Given the description of an element on the screen output the (x, y) to click on. 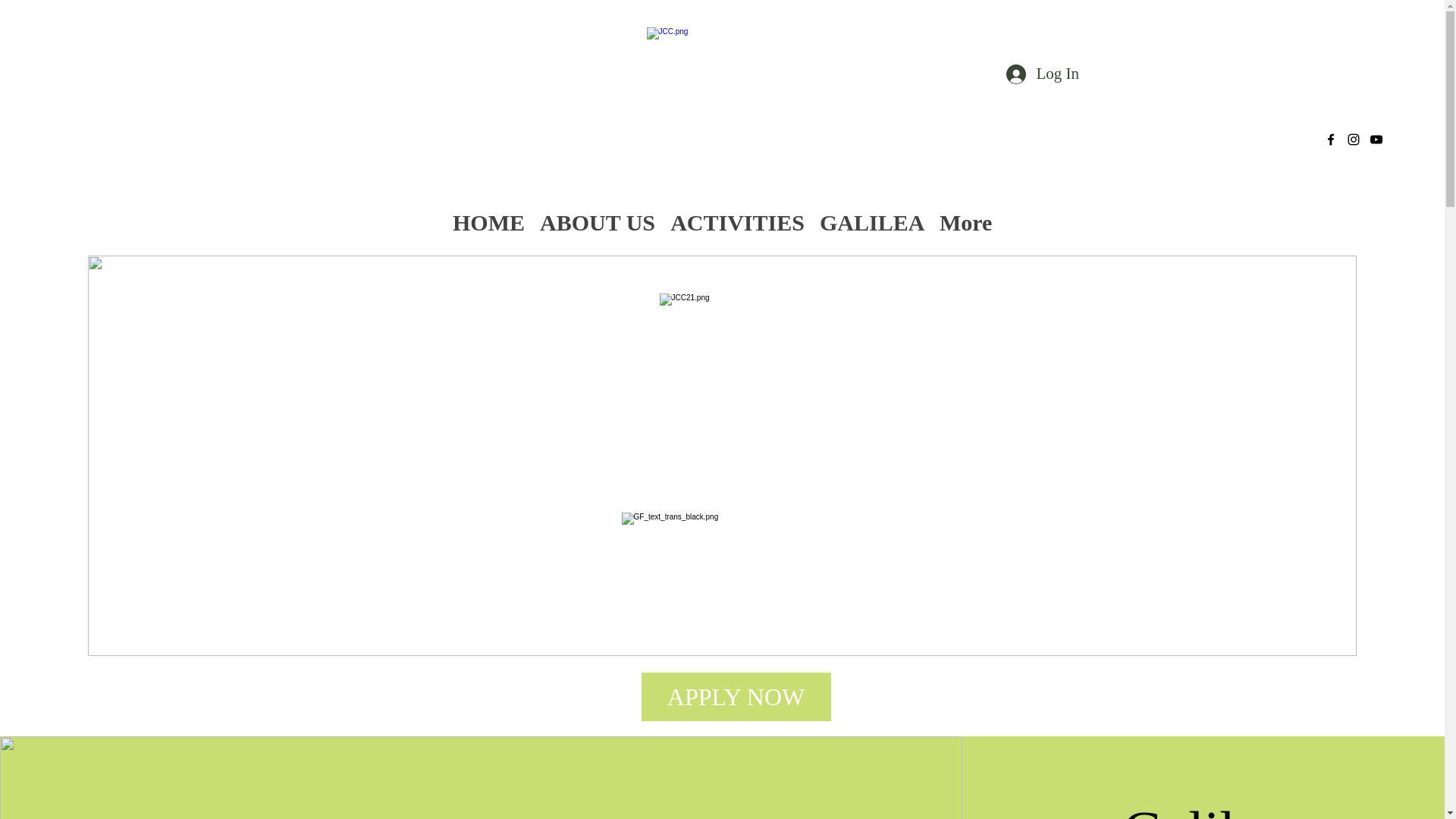
GALILEA (871, 218)
ABOUT US (597, 218)
APPLY NOW (736, 696)
ACTIVITIES (737, 218)
HOME (488, 218)
Log In (1040, 73)
